Given the description of an element on the screen output the (x, y) to click on. 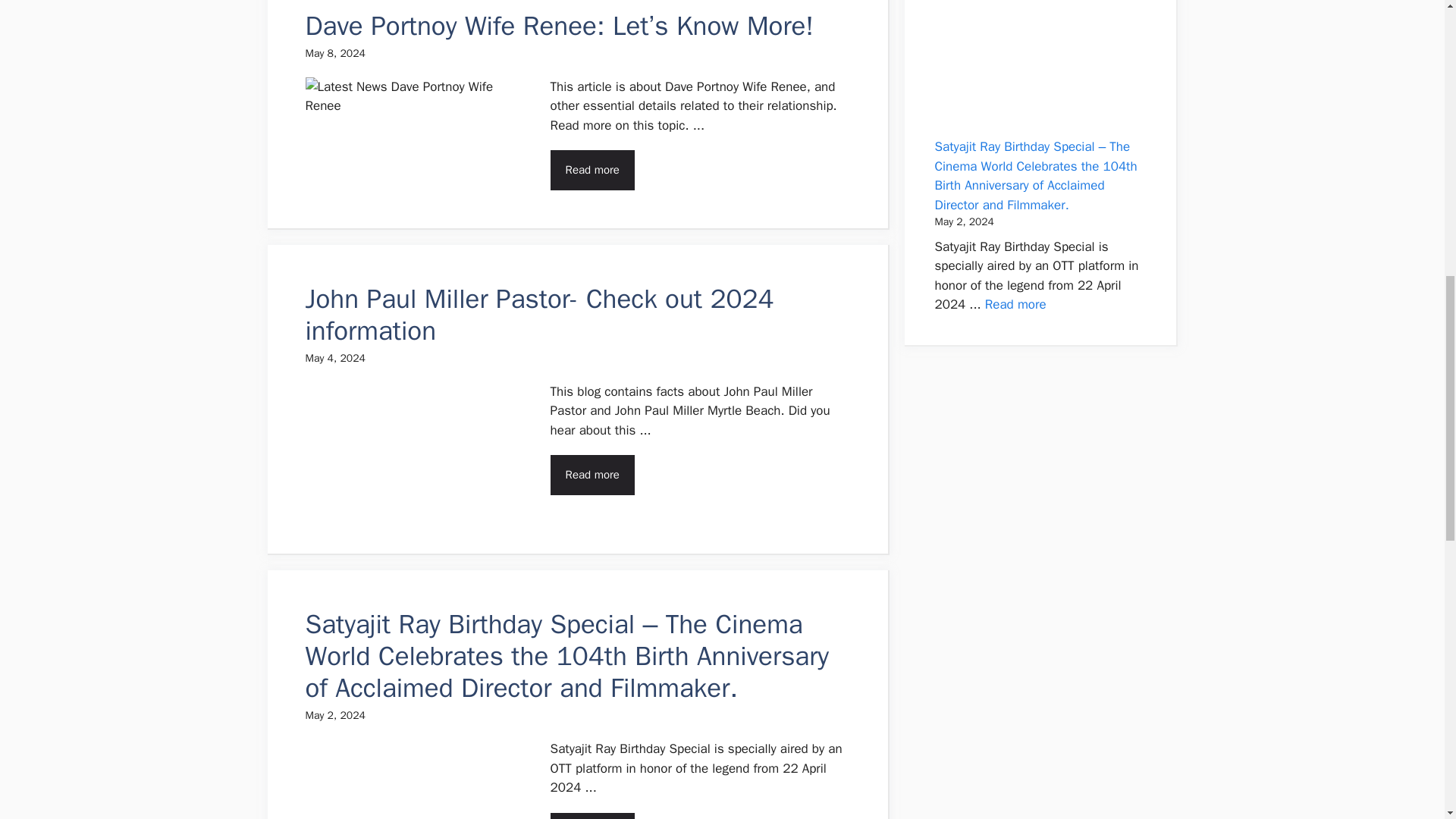
Read more (592, 816)
Read more (592, 475)
Read more (592, 169)
Read more (1015, 304)
John Paul Miller Pastor- Check out 2024 information (538, 314)
